Given the description of an element on the screen output the (x, y) to click on. 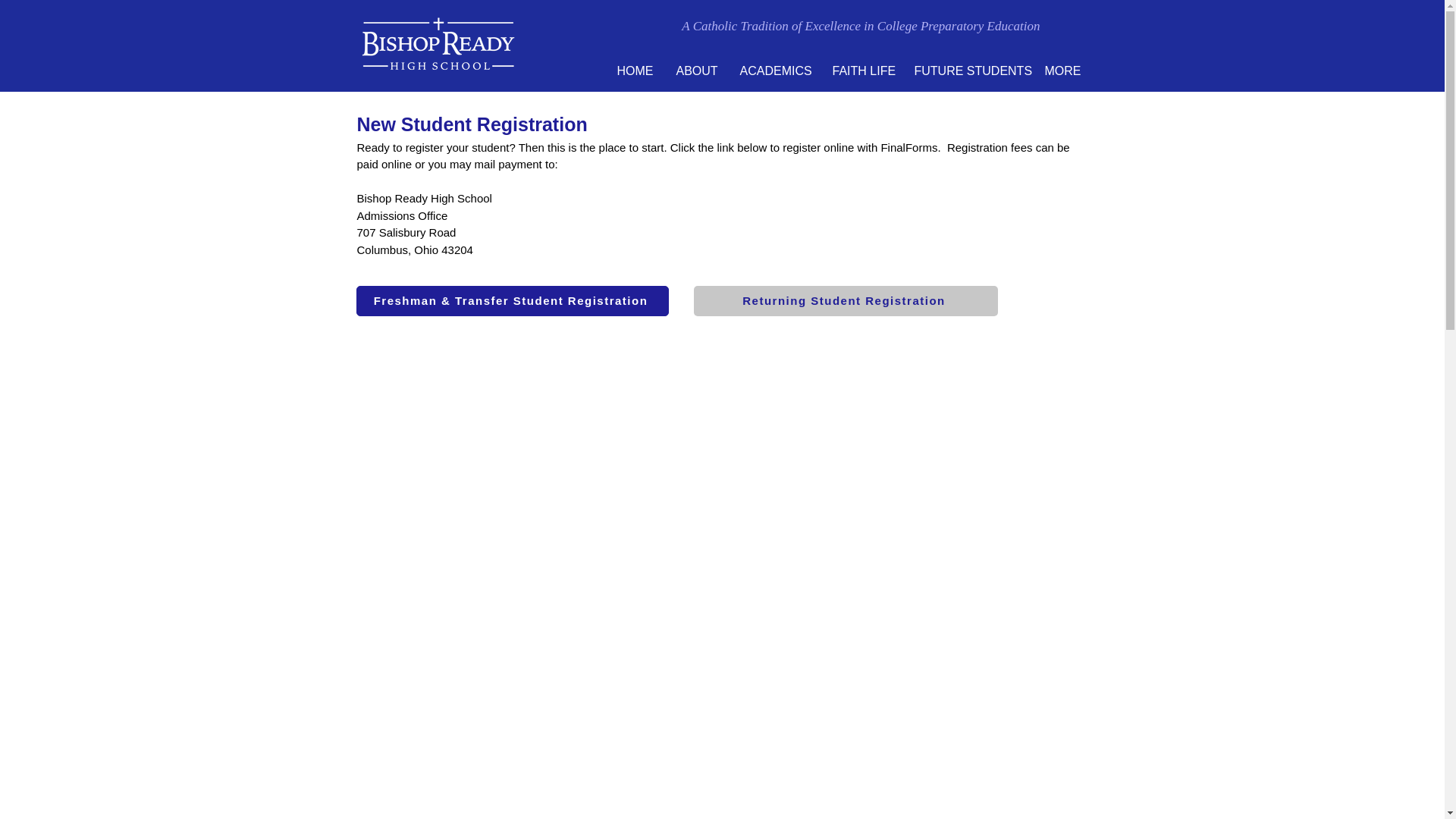
BRHSlogo.png (436, 45)
HOME (634, 70)
